Given the description of an element on the screen output the (x, y) to click on. 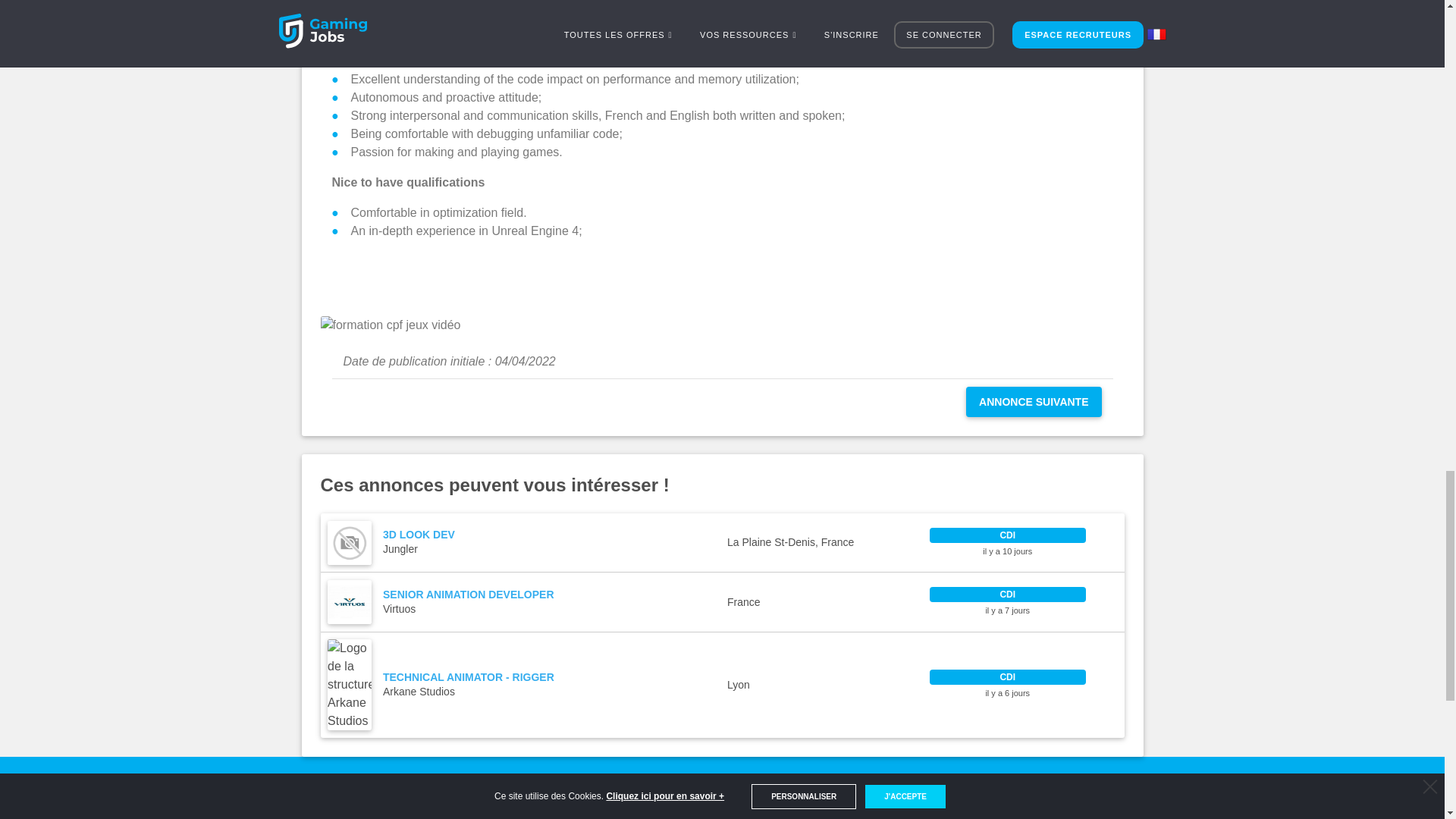
ANNONCE SUIVANTE (1033, 401)
Logo de la structure Virtuos (722, 601)
Logo de la structure Jungler (349, 601)
